Given the description of an element on the screen output the (x, y) to click on. 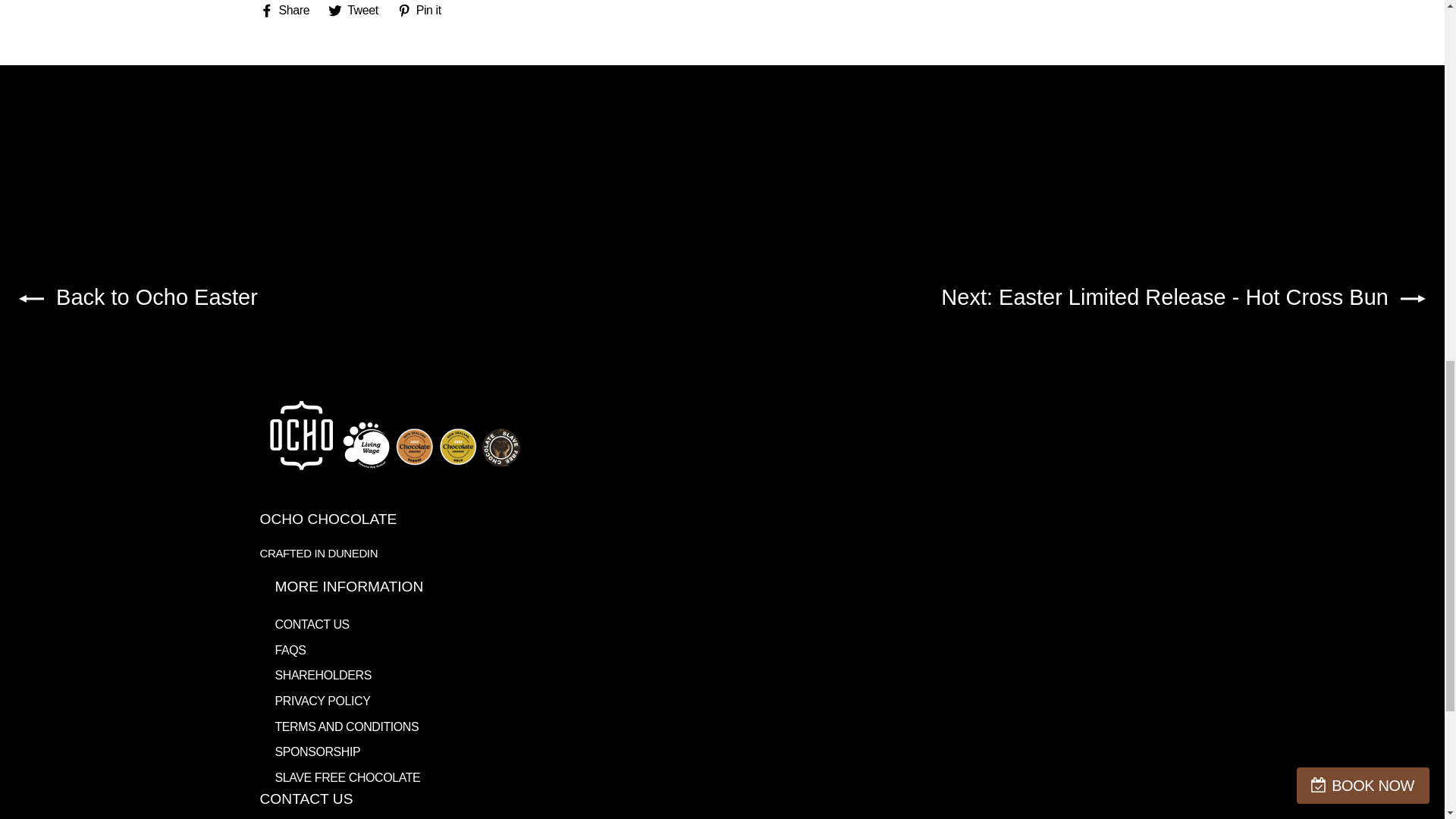
Pin on Pinterest (424, 9)
Share on Facebook (289, 9)
Tweet on Twitter (359, 9)
FareHarbor (1342, 64)
